Given the description of an element on the screen output the (x, y) to click on. 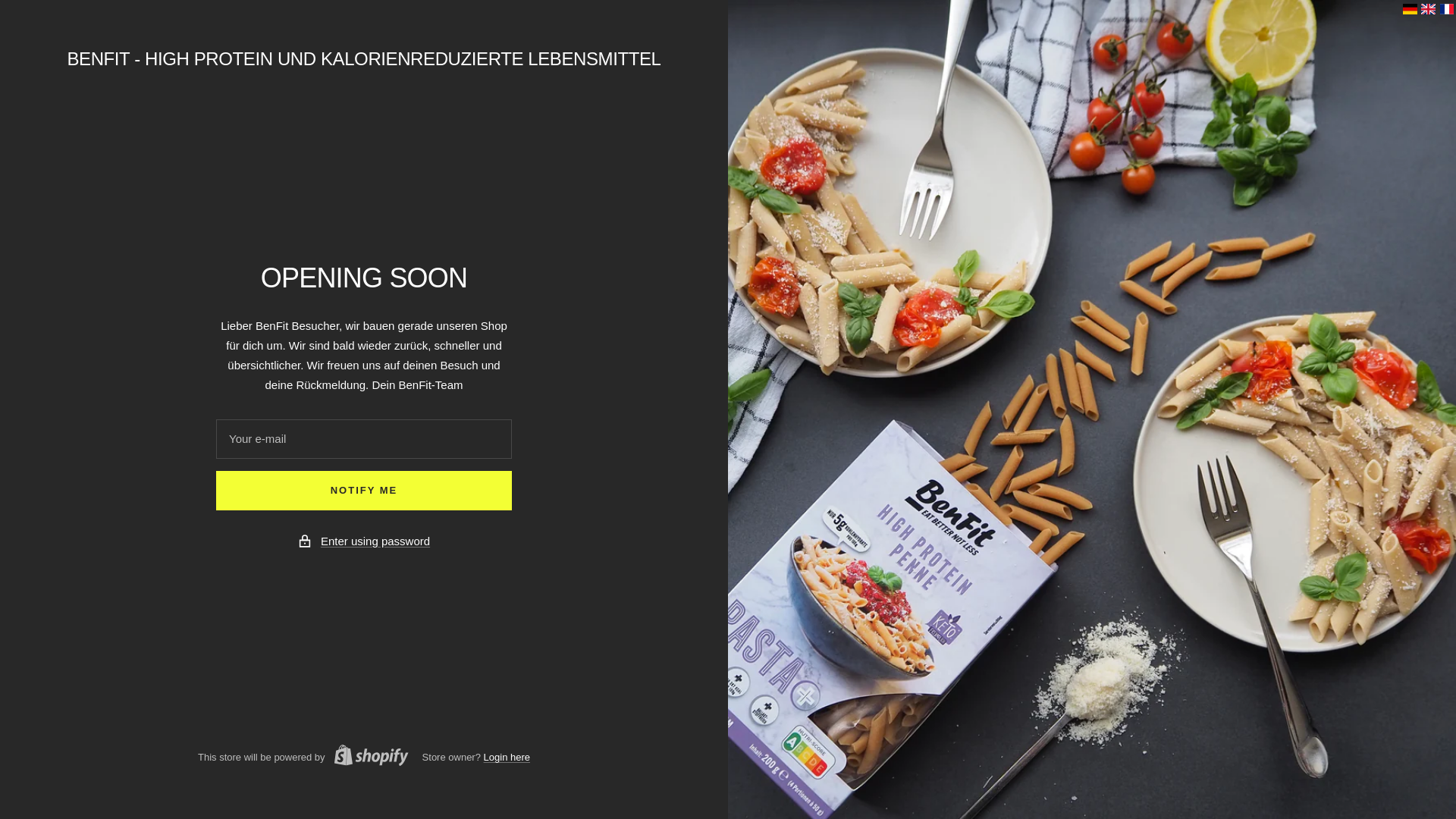
Enter using password (374, 541)
Login here (506, 756)
NOTIFY ME (363, 490)
